Given the description of an element on the screen output the (x, y) to click on. 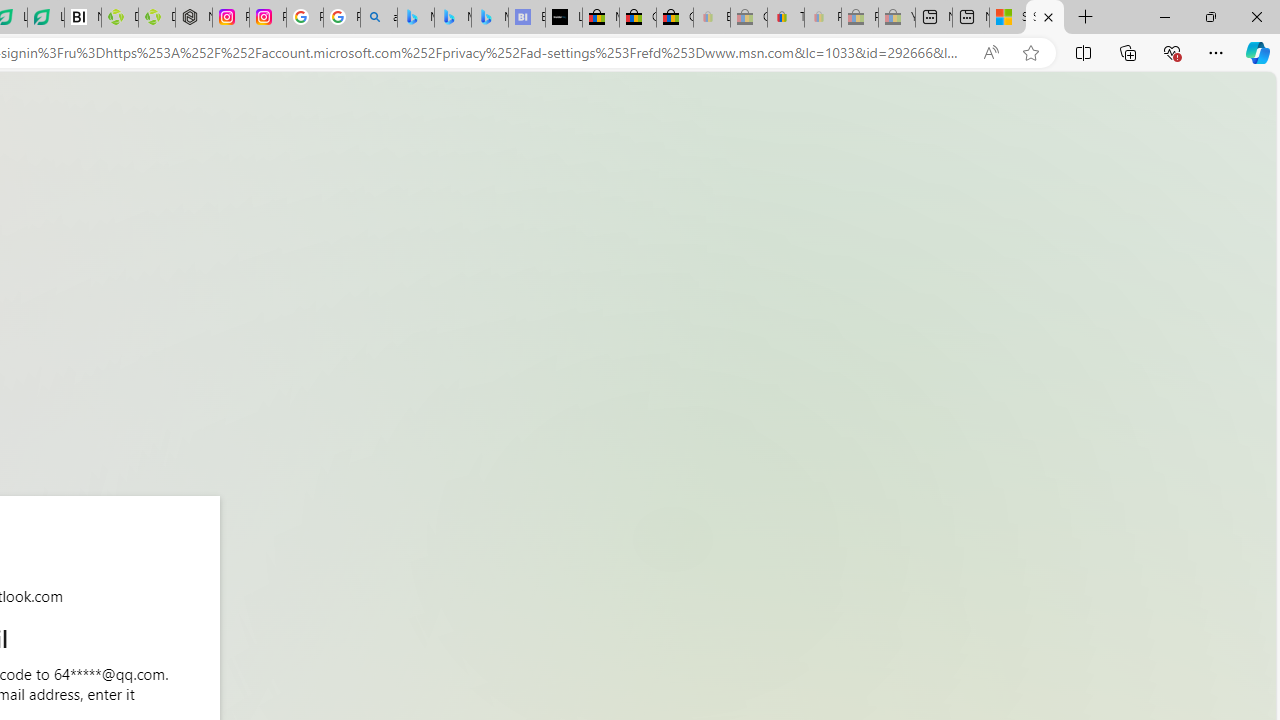
Nvidia va a poner a prueba la paciencia de los inversores (83, 17)
alabama high school quarterback dies - Search (378, 17)
Press Room - eBay Inc. - Sleeping (860, 17)
